Given the description of an element on the screen output the (x, y) to click on. 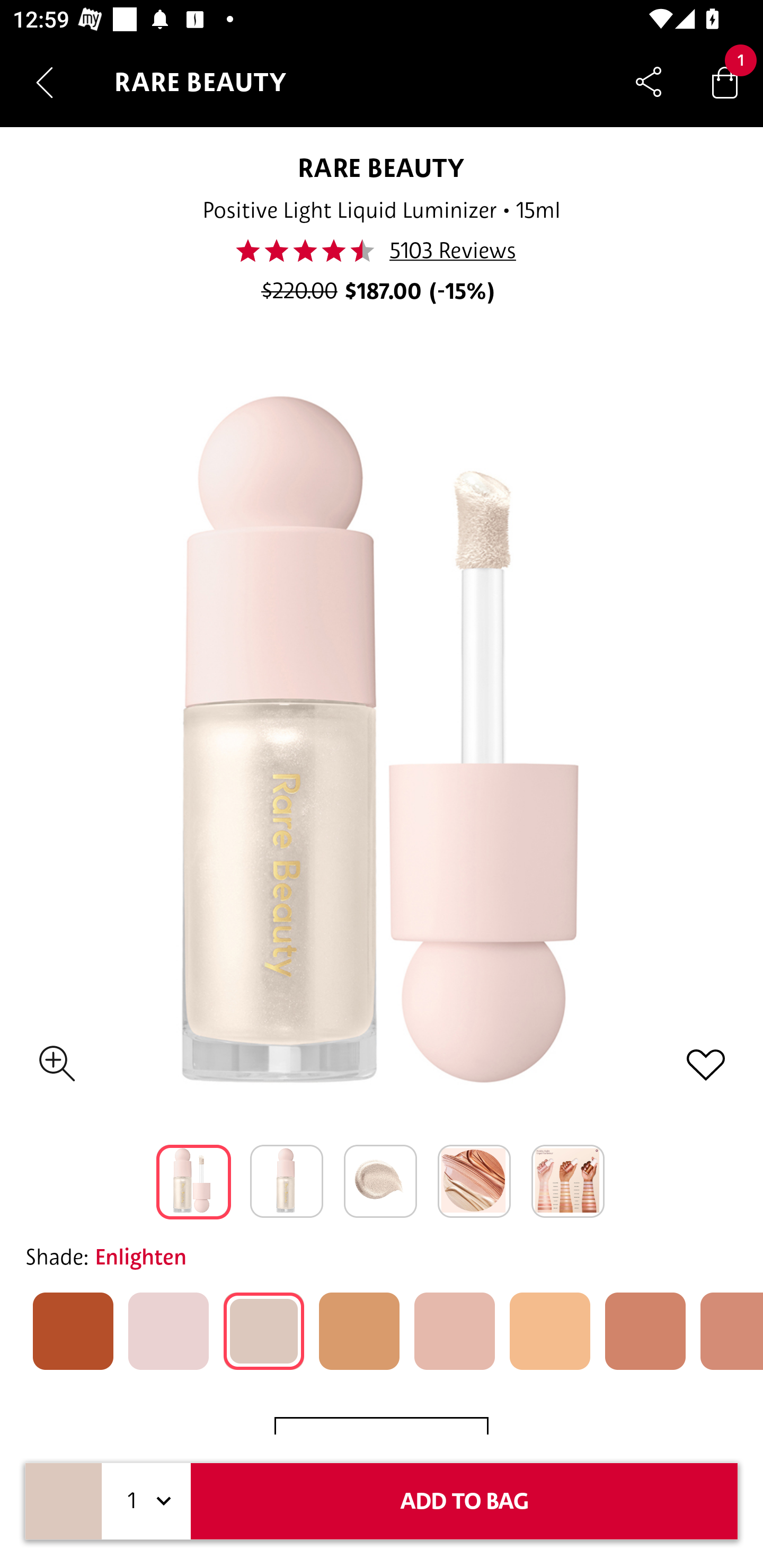
Navigate up (44, 82)
Share (648, 81)
Bag (724, 81)
RARE BEAUTY (381, 167)
45.0 5103 Reviews (380, 250)
1 (145, 1500)
ADD TO BAG (463, 1500)
